Given the description of an element on the screen output the (x, y) to click on. 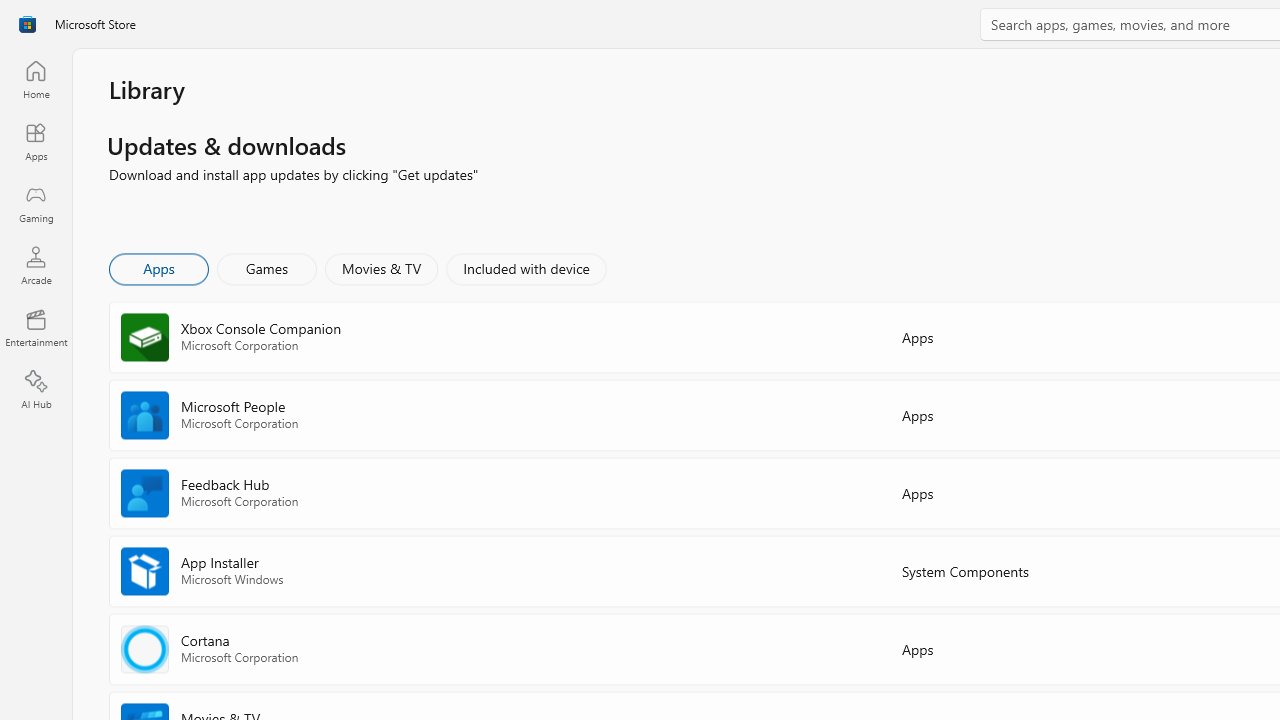
Home (35, 79)
Gaming (35, 203)
Arcade (35, 265)
Games (267, 268)
AI Hub (35, 390)
Movies & TV (381, 268)
Included with device (525, 268)
Class: Image (27, 24)
Entertainment (35, 327)
